Given the description of an element on the screen output the (x, y) to click on. 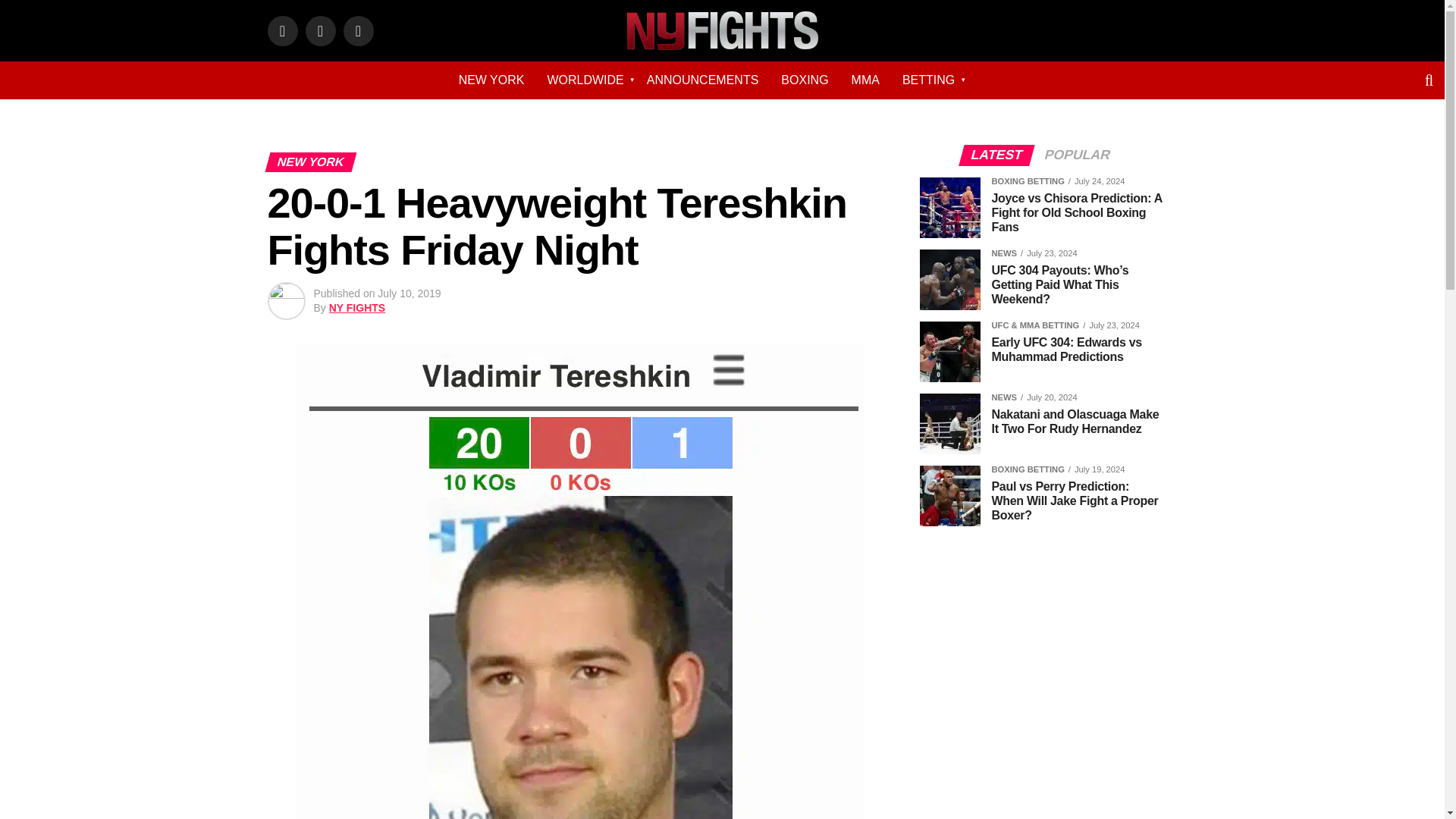
MMA (865, 80)
BOXING (805, 80)
WORLDWIDE (584, 80)
BETTING (928, 80)
NEW YORK (490, 80)
ANNOUNCEMENTS (702, 80)
